Given the description of an element on the screen output the (x, y) to click on. 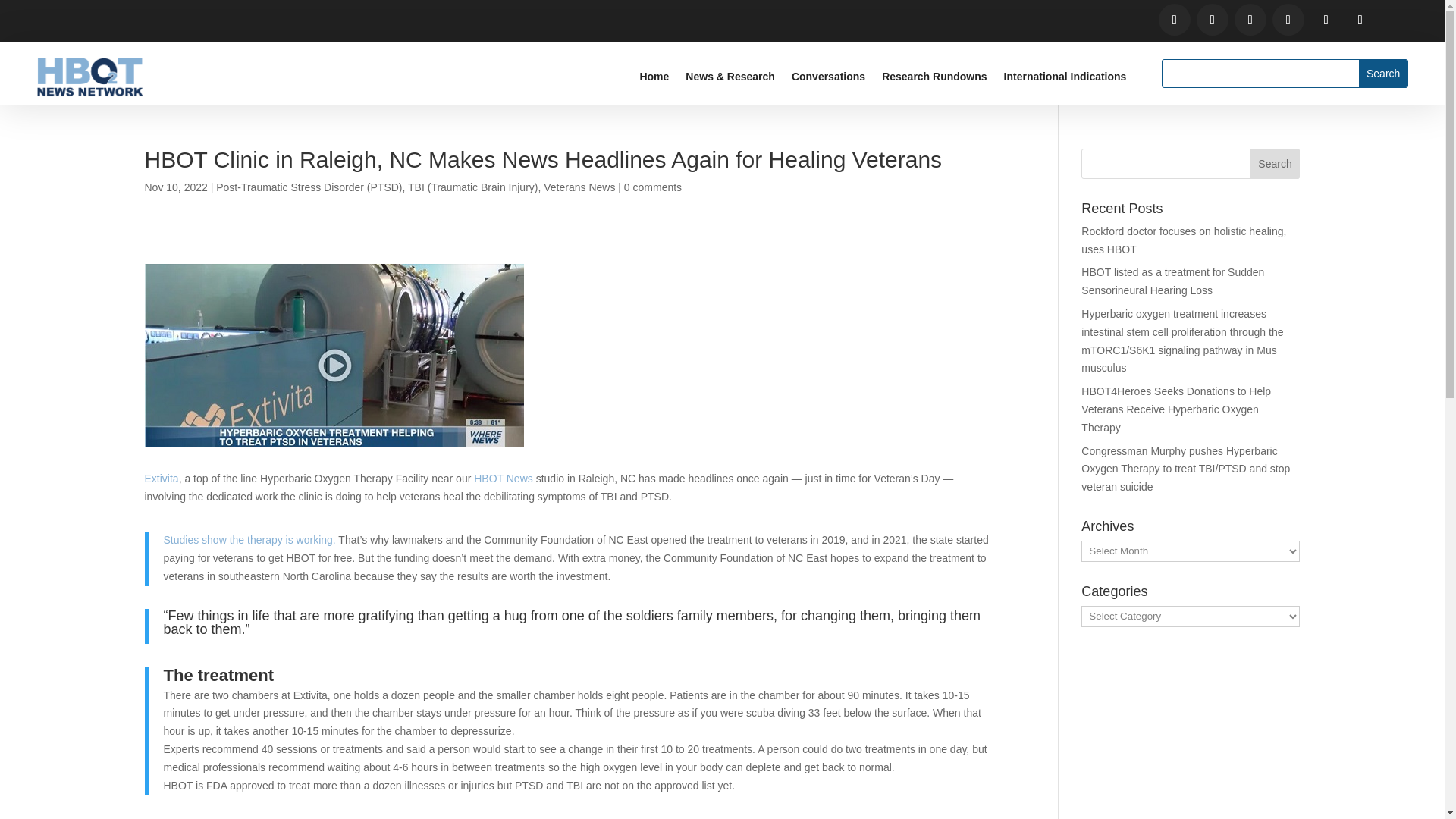
Search (1382, 72)
Studies show the therapy is working. (249, 539)
HBOT News Network Logo Color (89, 76)
Follow on Apple (1360, 19)
Follow on Instagram (1250, 20)
Search (1275, 163)
Home (653, 79)
International Indications (1065, 79)
Follow on Facebook (1174, 20)
